Given the description of an element on the screen output the (x, y) to click on. 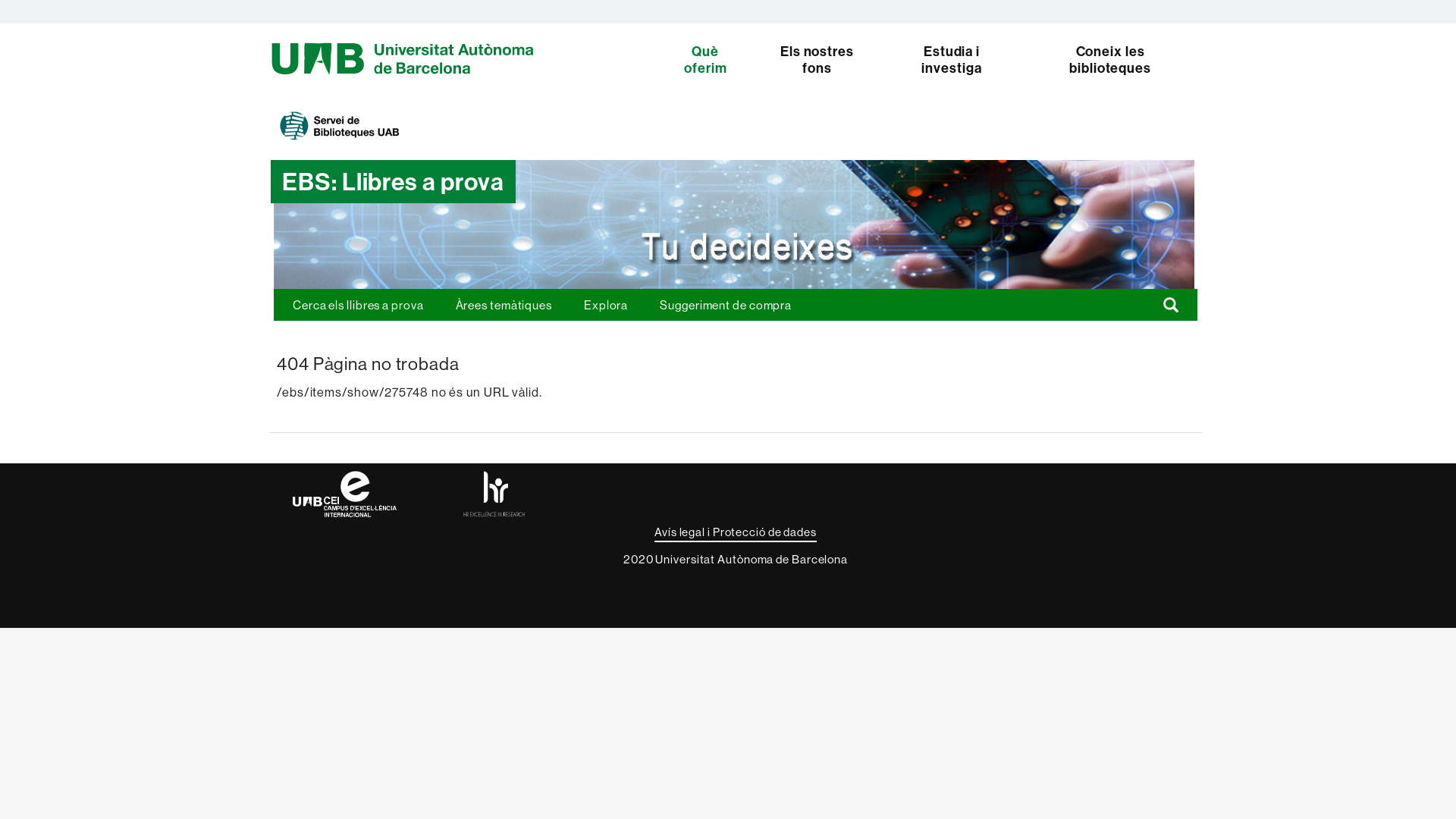
Twitter Element type: text (1395, 10)
Youtube Element type: text (1443, 10)
Servei de Biblioteques UAB Element type: hover (338, 126)
Els nostres fons Element type: text (817, 59)
Explora Element type: text (605, 304)
Facebook Element type: text (1370, 10)
Suggeriment de compra Element type: text (725, 304)
Coneix les biblioteques Element type: text (1104, 59)
Estudia i investiga Element type: text (951, 59)
Instagram Element type: text (1419, 10)
Cerca els llibres a prova Element type: text (357, 304)
HR Excellence in Research - Euraxess Element type: text (494, 501)
